Given the description of an element on the screen output the (x, y) to click on. 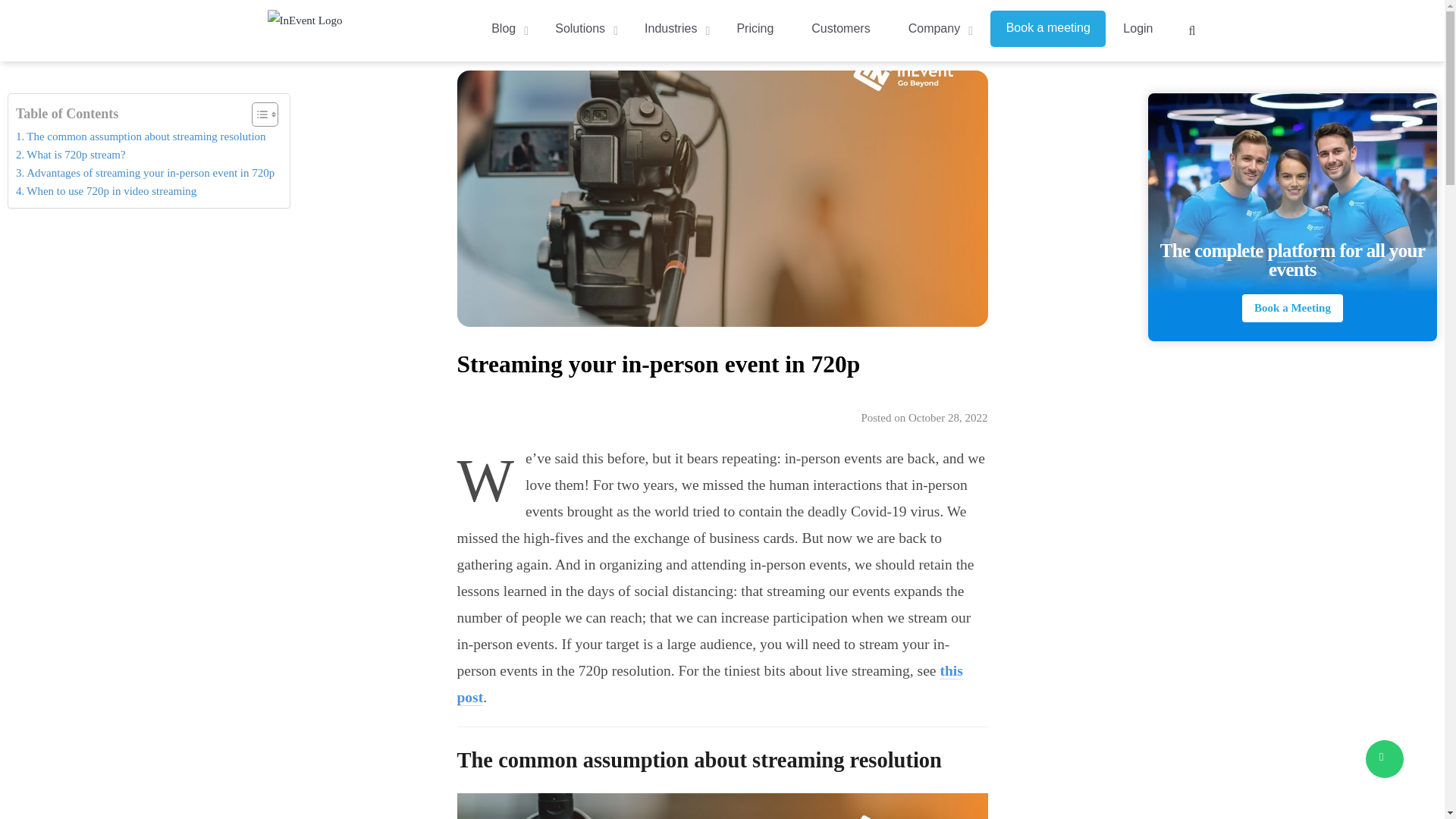
Solutions (580, 26)
Advantages of streaming your in-person event in 720p (145, 172)
When to use 720p in video streaming (106, 190)
Industries (671, 26)
Blog (504, 26)
The common assumption about streaming resolution (141, 136)
